Given the description of an element on the screen output the (x, y) to click on. 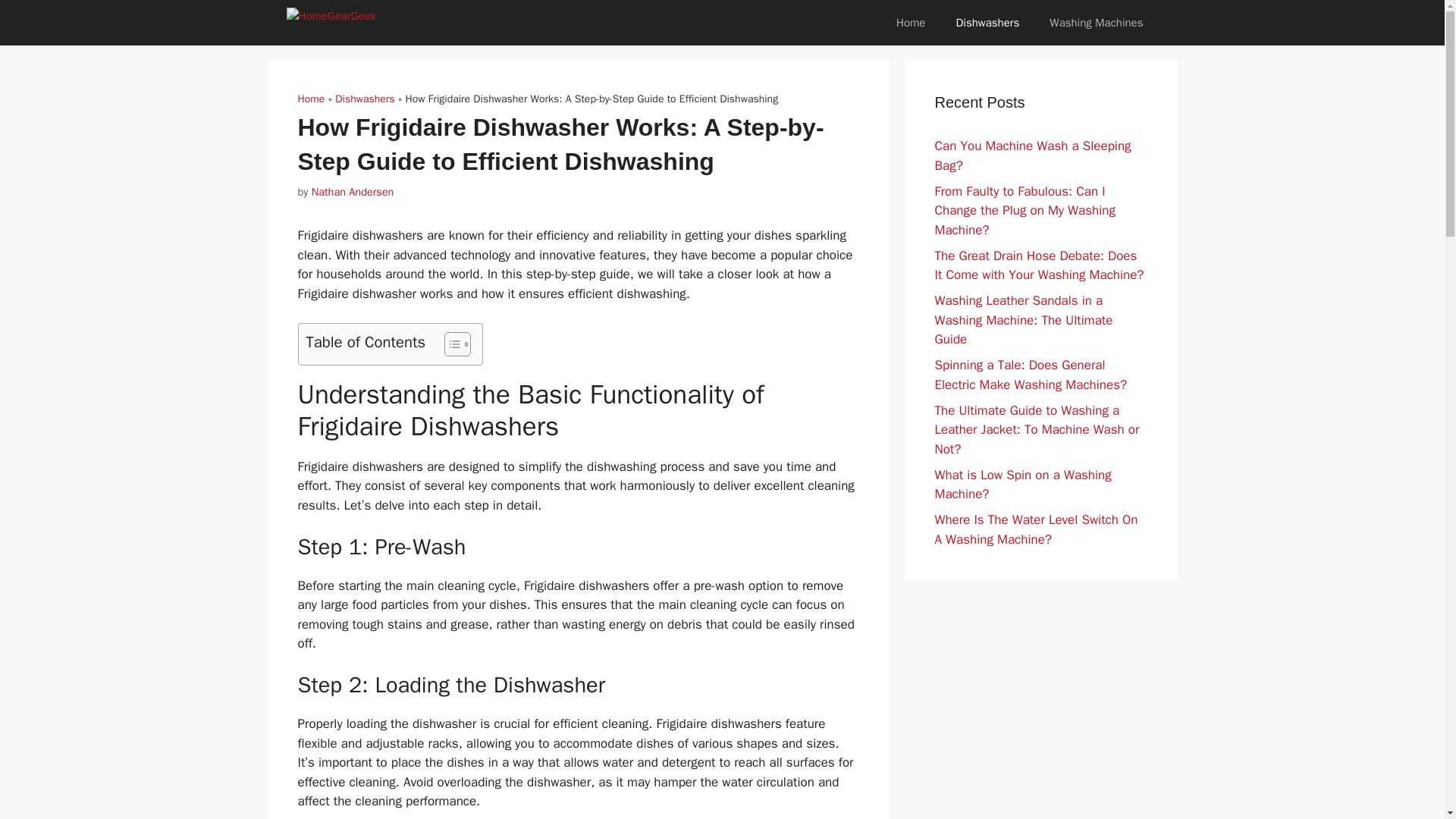
What is Low Spin on a Washing Machine? (1022, 484)
HomeGearGeek (346, 22)
Where Is The Water Level Switch On A Washing Machine? (1035, 529)
Can You Machine Wash a Sleeping Bag? (1032, 155)
View all posts by Nathan Andersen (352, 192)
Home (310, 98)
Home (910, 22)
Nathan Andersen (352, 192)
